Given the description of an element on the screen output the (x, y) to click on. 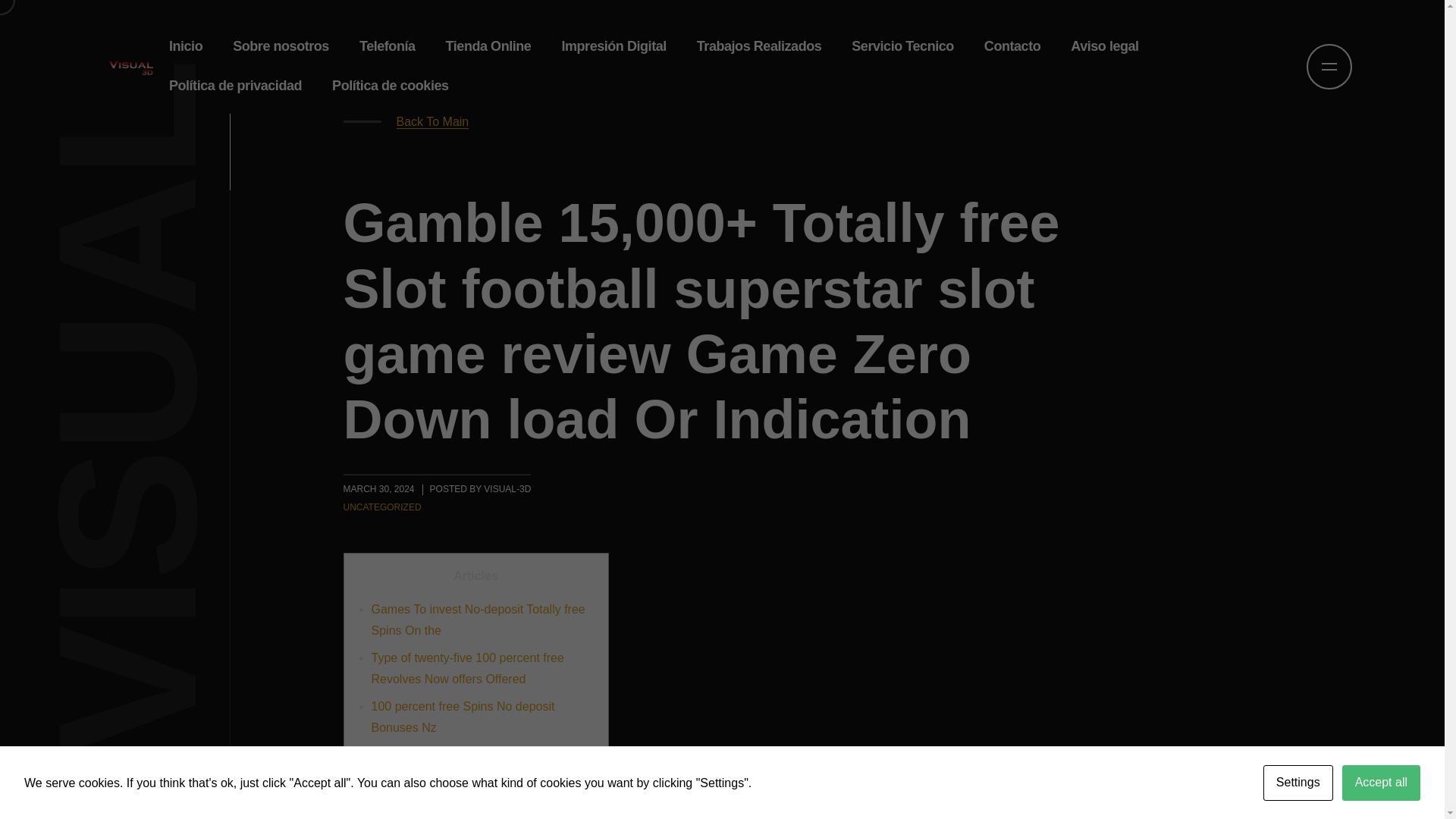
Trabajos Realizados (759, 46)
Inicio (185, 46)
Tienda Online (488, 46)
Contacto (1012, 46)
Servicio Tecnico (902, 46)
Aviso legal (1104, 46)
Sobre nosotros (279, 46)
